Given the description of an element on the screen output the (x, y) to click on. 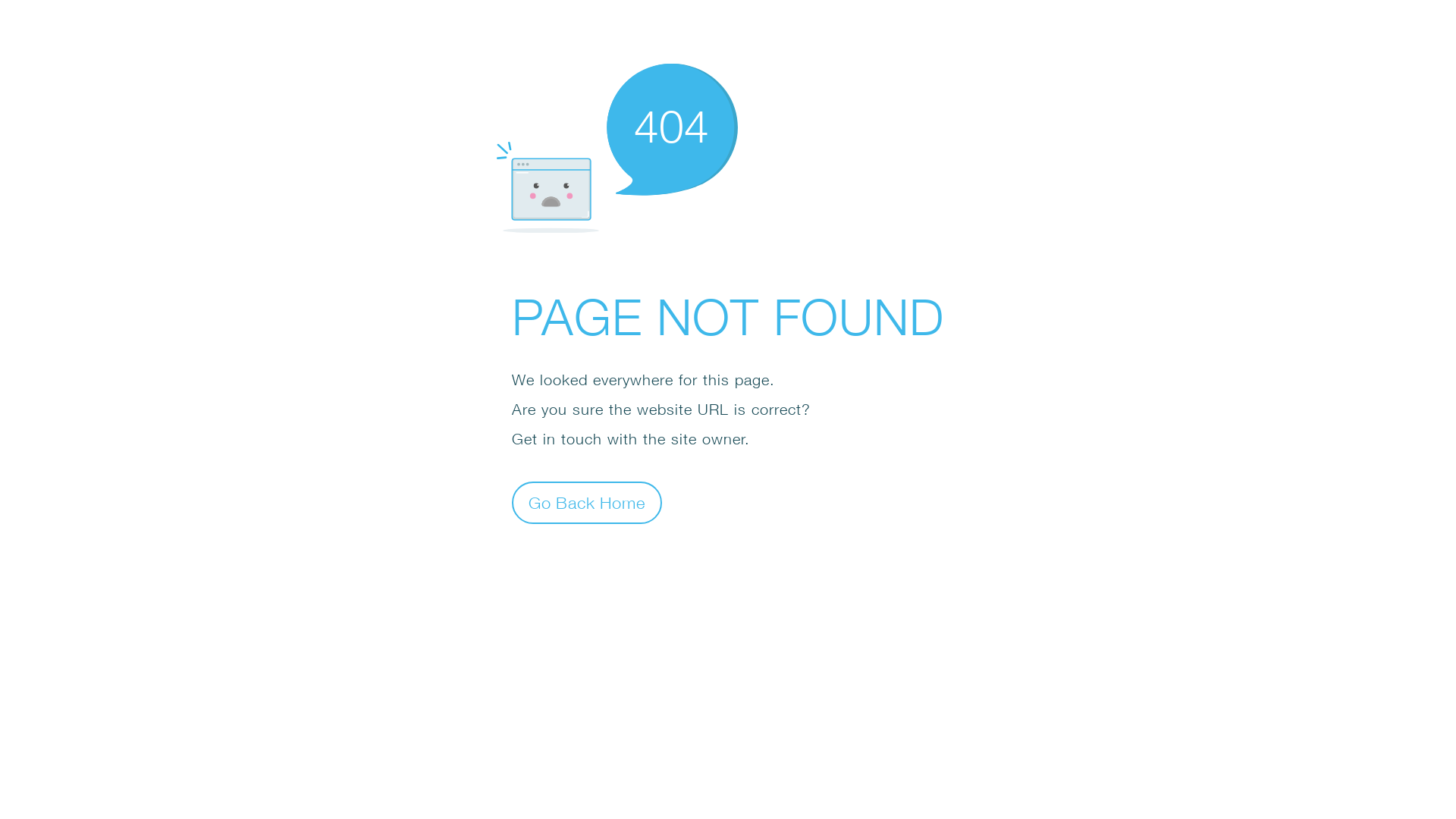
Go Back Home Element type: text (586, 502)
